Given the description of an element on the screen output the (x, y) to click on. 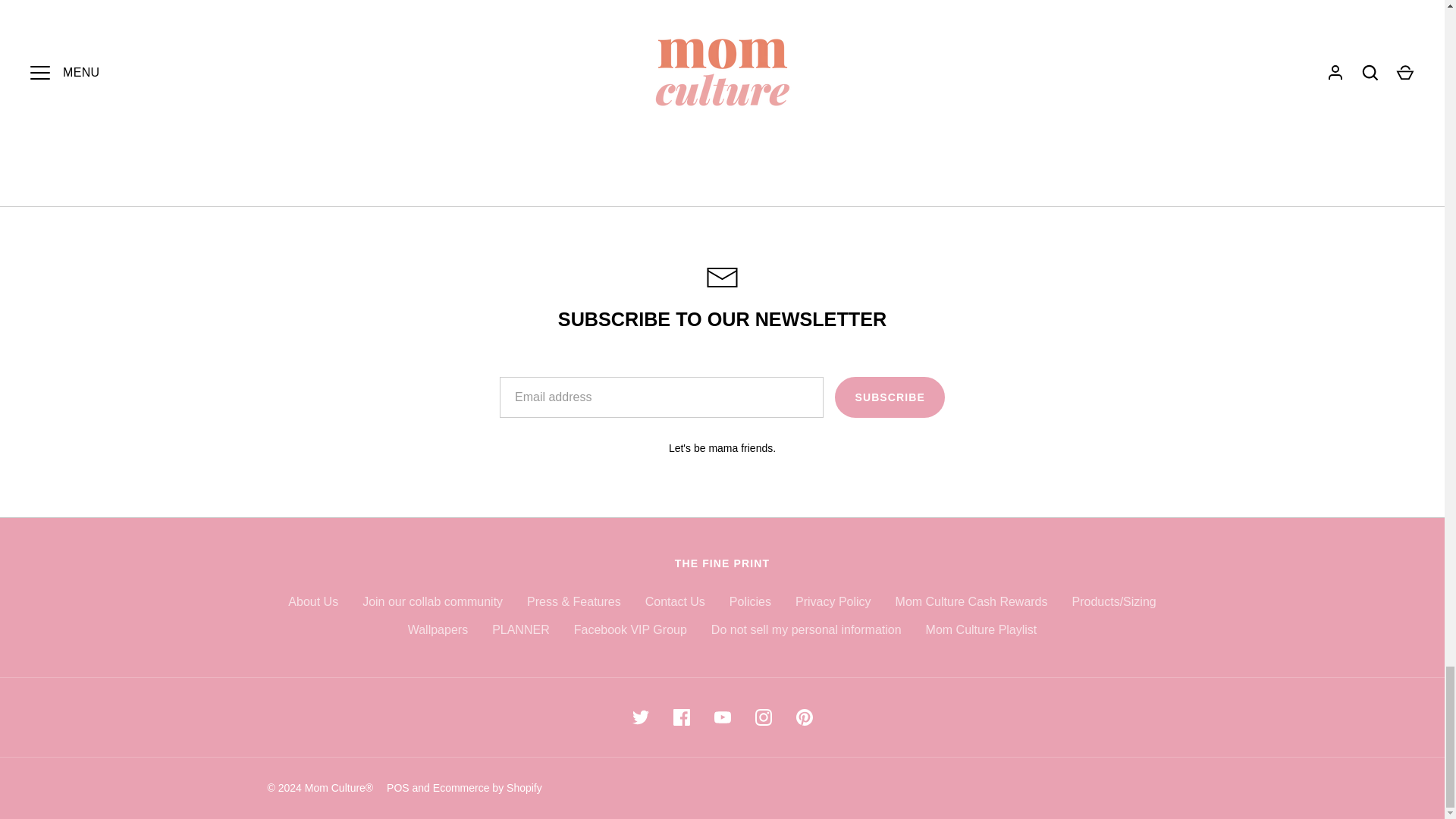
Email (722, 277)
